Given the description of an element on the screen output the (x, y) to click on. 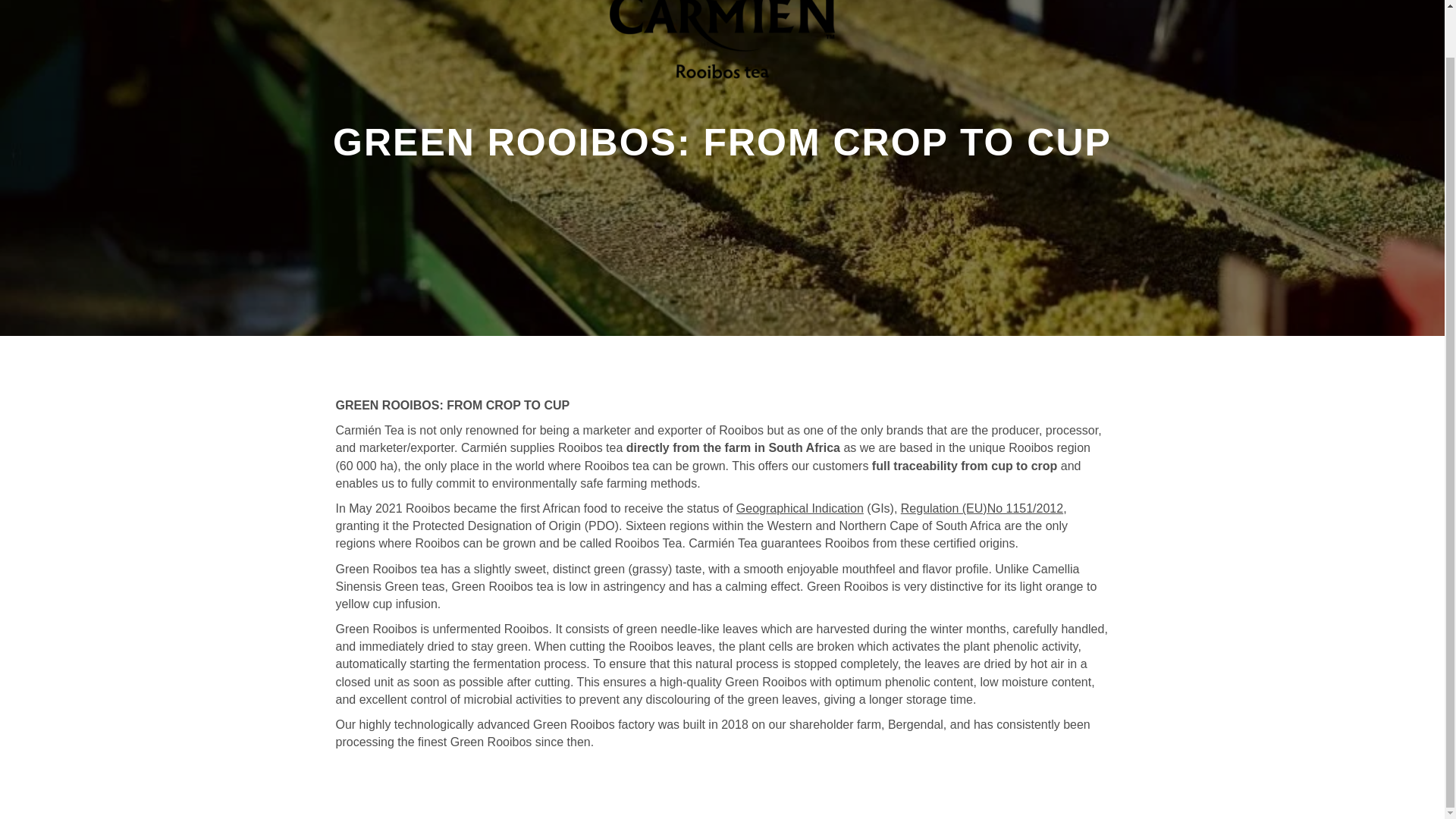
Geographical Indication (799, 508)
